Given the description of an element on the screen output the (x, y) to click on. 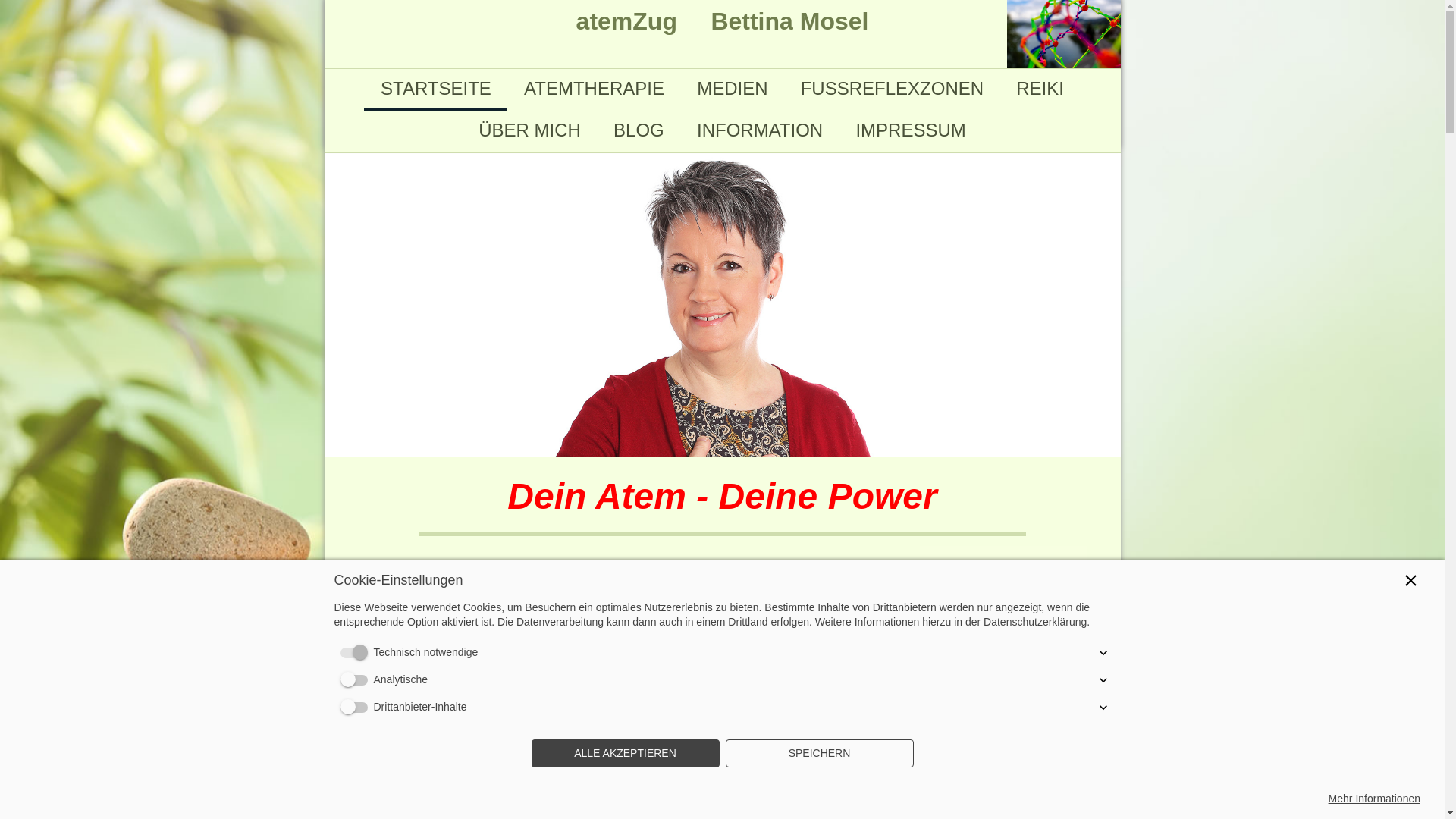
STARTSEITE Element type: text (435, 88)
MEDIEN Element type: text (732, 88)
  Element type: text (1063, 7)
SPEICHERN Element type: text (818, 753)
BLOG Element type: text (638, 130)
INFORMATION Element type: text (759, 130)
https://www.youtube.com/watch?v=JApm9hIFGxk Element type: text (509, 682)
ALLE AKZEPTIEREN Element type: text (624, 753)
Mehr Informationen Element type: text (1374, 798)
IMPRESSUM Element type: text (910, 130)
FUSSREFLEXZONEN Element type: text (892, 88)
ATEMTHERAPIE Element type: text (593, 88)
REIKI Element type: text (1040, 88)
